Given the description of an element on the screen output the (x, y) to click on. 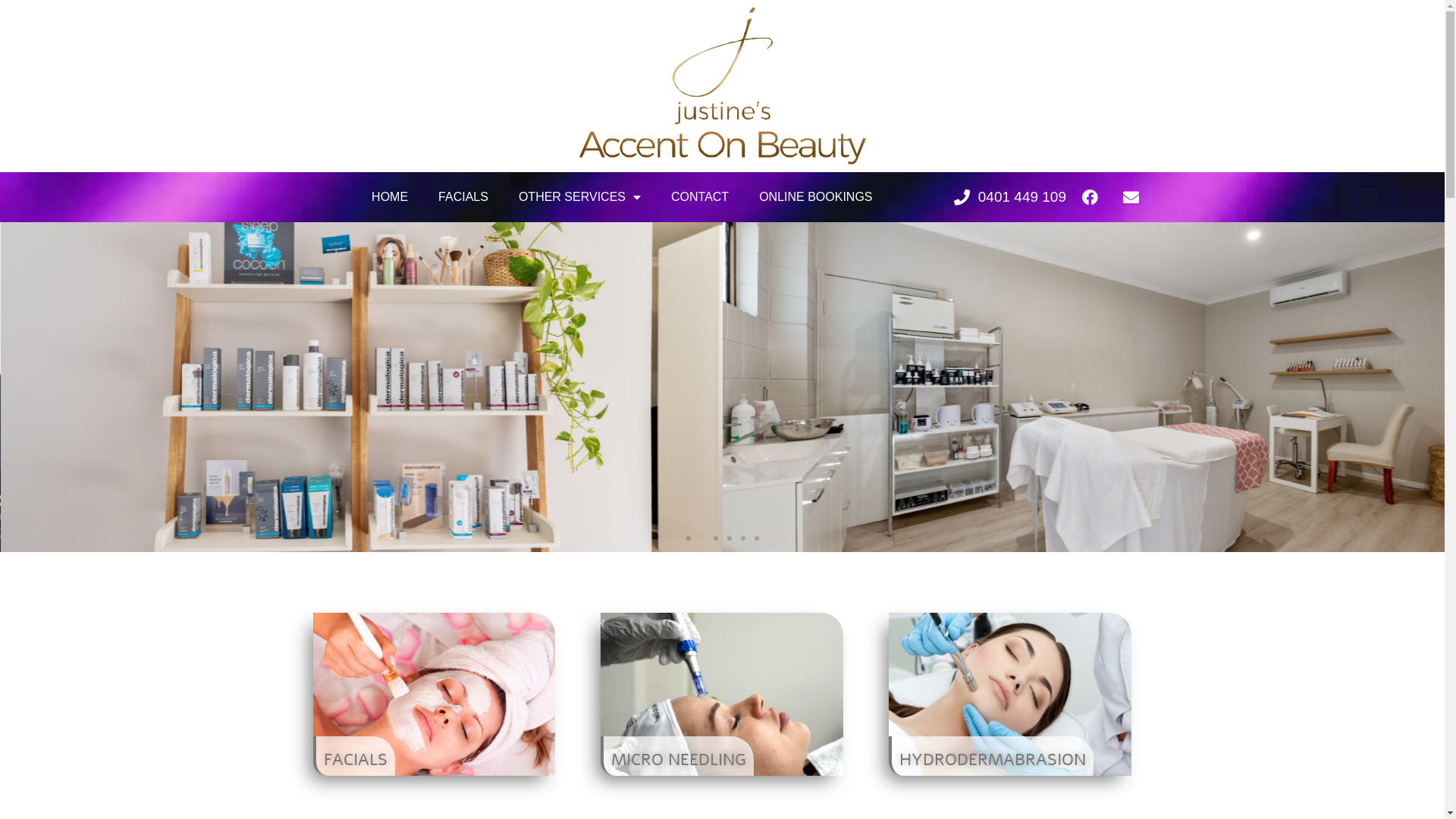
0401 449 109 Element type: text (1008, 196)
CONTACT Element type: text (699, 196)
FACIALS Element type: text (353, 755)
FACIALS Element type: text (463, 196)
MICRO NEEDLING Element type: text (676, 755)
OTHER SERVICES Element type: text (579, 196)
HOME Element type: text (389, 196)
HYDRODERMABRASION Element type: text (990, 755)
ONLINE BOOKINGS Element type: text (815, 196)
